Given the description of an element on the screen output the (x, y) to click on. 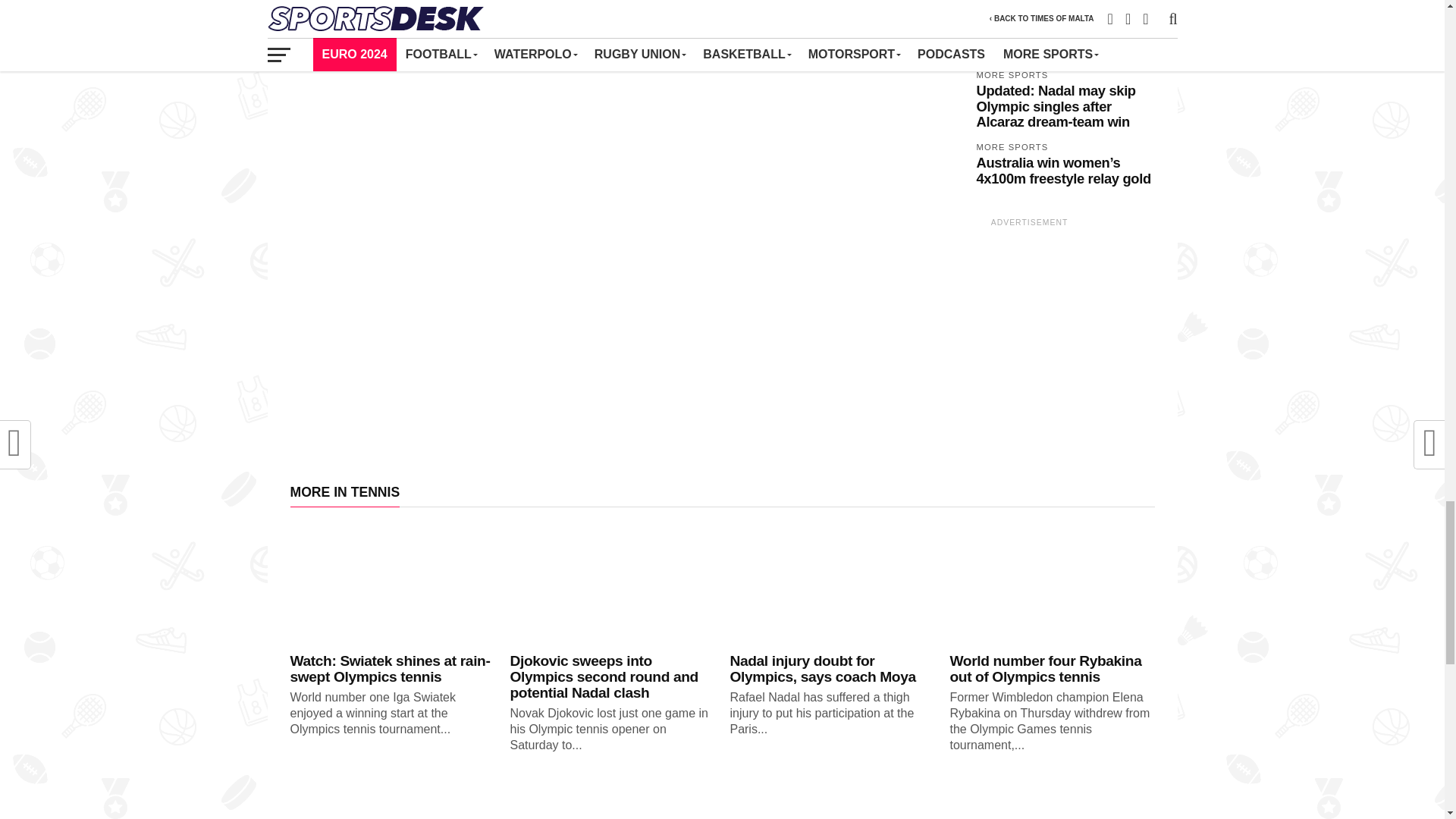
3rd party ad content (1028, 330)
